Given the description of an element on the screen output the (x, y) to click on. 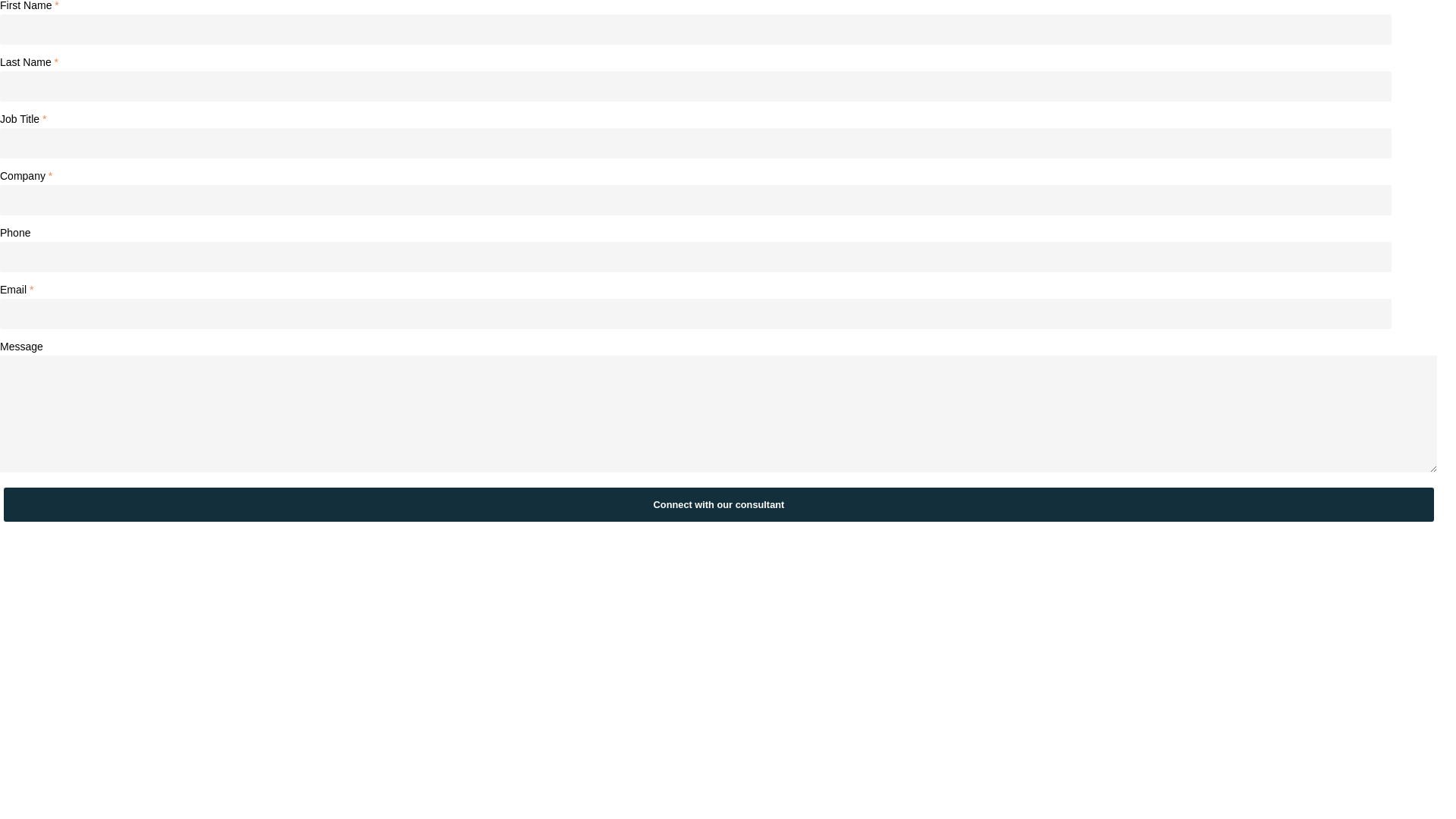
Connect with our consultant Element type: text (718, 504)
